Given the description of an element on the screen output the (x, y) to click on. 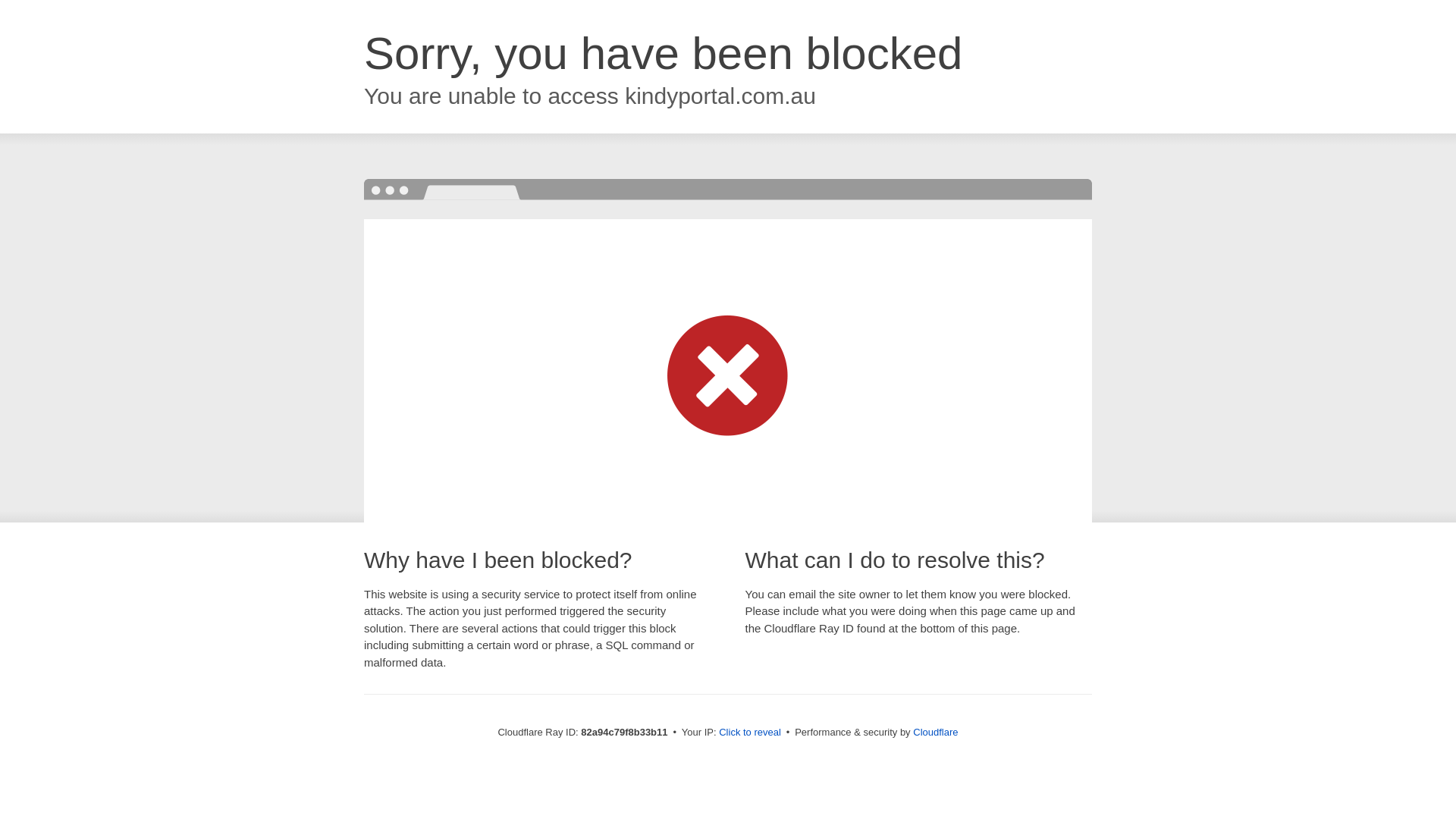
Cloudflare Element type: text (935, 731)
Click to reveal Element type: text (749, 732)
